Given the description of an element on the screen output the (x, y) to click on. 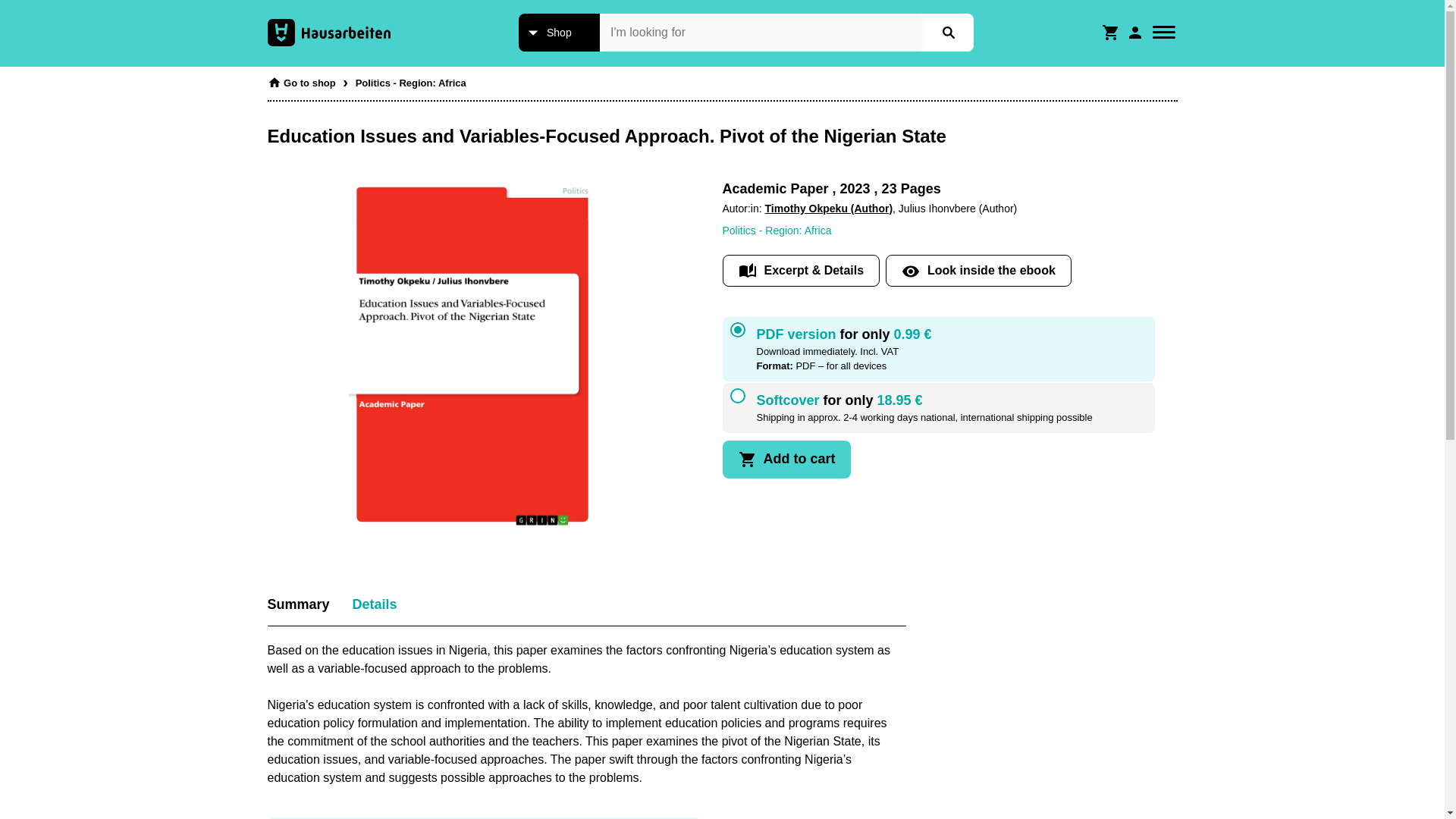
Add to cart (786, 459)
Summary (297, 604)
Politics - Region: Africa (776, 230)
Look inside the ebook (978, 270)
Summary (297, 604)
Details (374, 604)
Politics - Region: Africa (410, 79)
Go to shop (300, 79)
Details (374, 604)
